Given the description of an element on the screen output the (x, y) to click on. 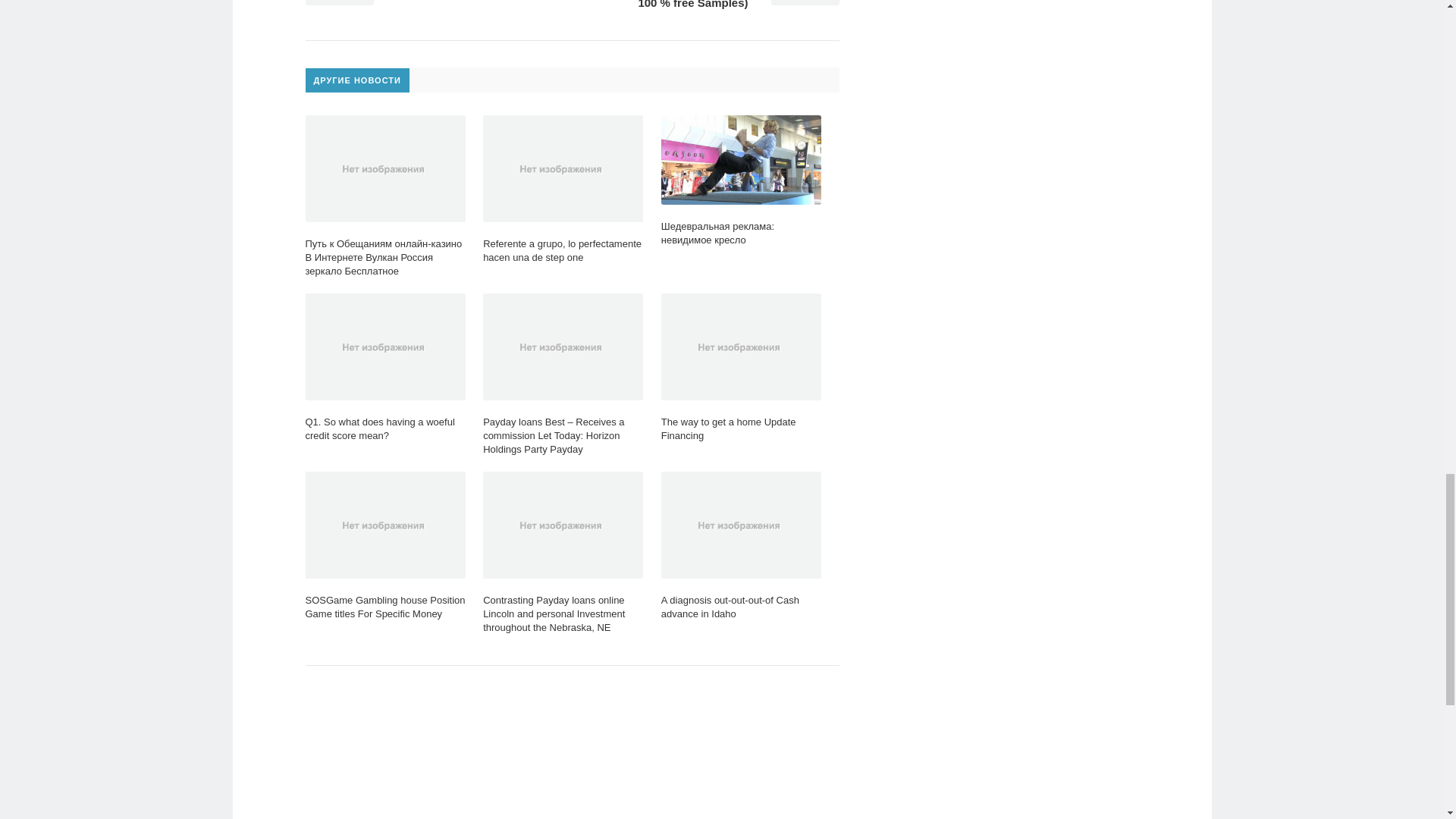
A diagnosis out-out-out-of Cash advance in Idaho (741, 545)
Referente a grupo, lo perfectamente hacen una de step one (563, 189)
Advertisement (571, 753)
Q1. So what does having a woeful credit score mean? (384, 368)
The way to get a home Update Financing (741, 368)
